Given the description of an element on the screen output the (x, y) to click on. 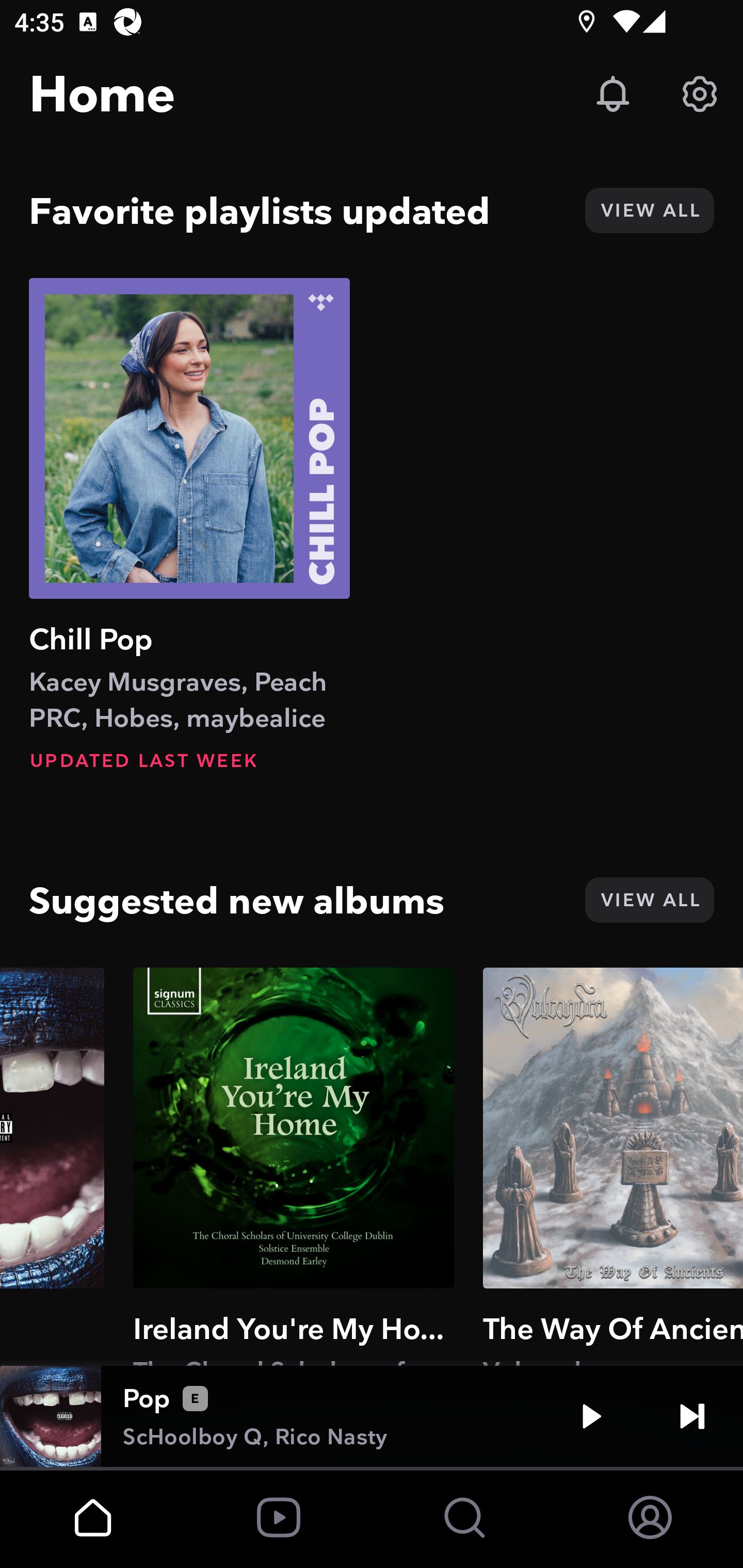
Updates (612, 93)
Settings (699, 93)
VIEW ALL (649, 210)
VIEW ALL (649, 899)
The Way Of Ancients Volcandra (612, 1166)
Pop    ScHoolboy Q, Rico Nasty Play (371, 1416)
Play (590, 1416)
